Given the description of an element on the screen output the (x, y) to click on. 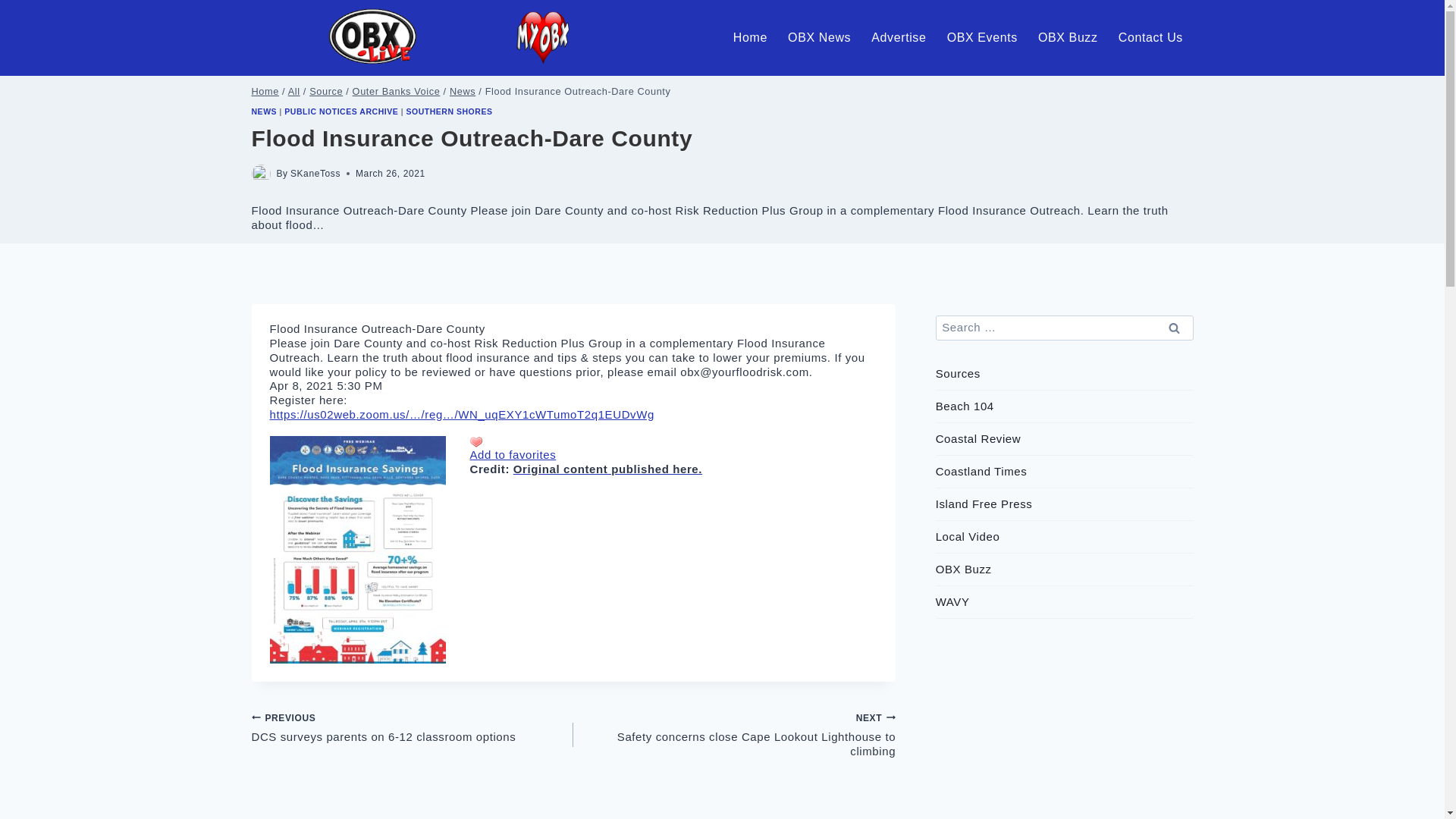
Original content published here. (607, 468)
SOUTHERN SHORES (449, 111)
Add to favorites (513, 454)
SKaneToss (314, 173)
Home (749, 37)
OBX Buzz (1067, 37)
Source (325, 91)
Outer Banks Voice (396, 91)
Advertise (898, 37)
